Given the description of an element on the screen output the (x, y) to click on. 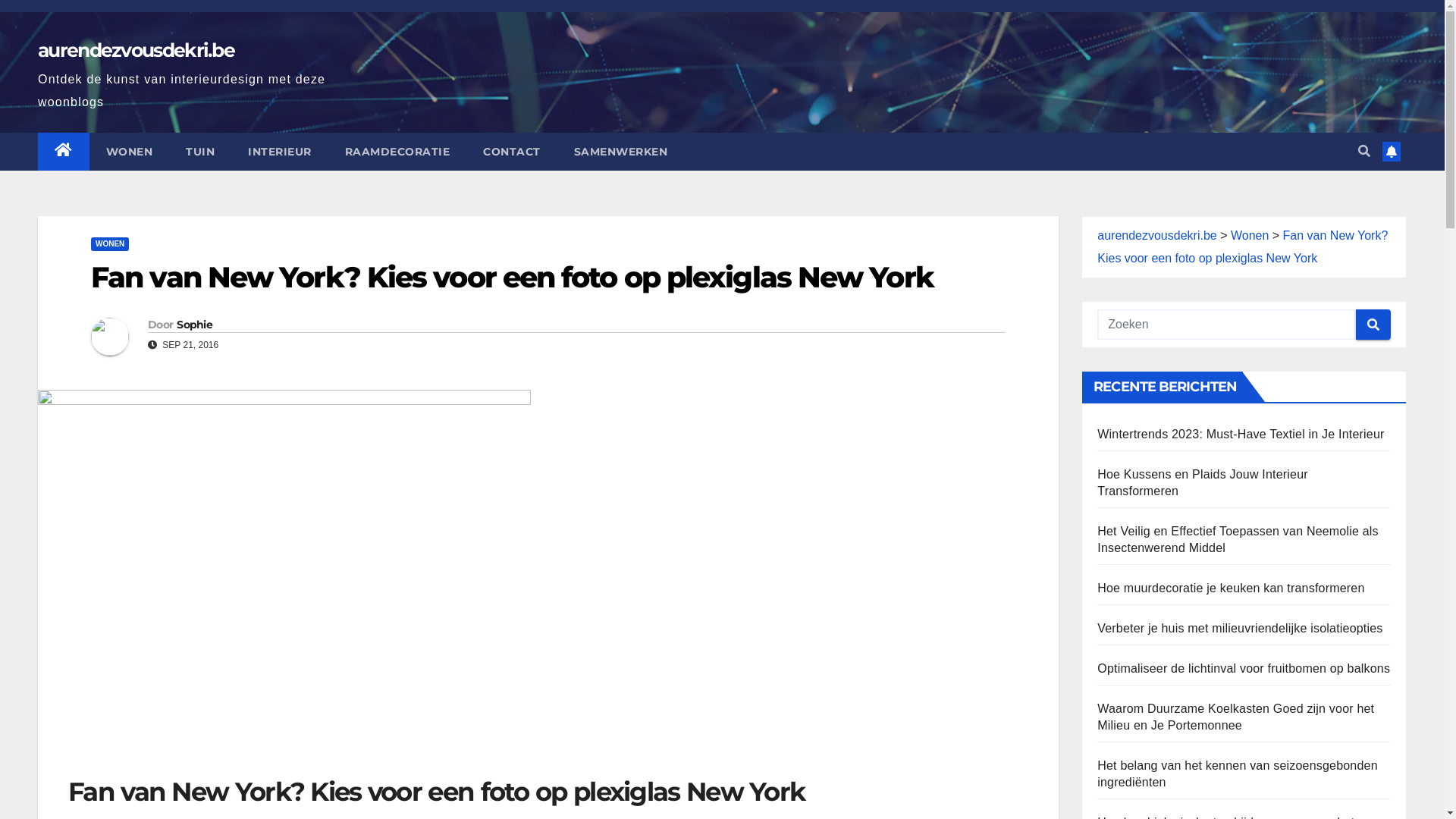
INTERIEUR Element type: text (279, 151)
Wintertrends 2023: Must-Have Textiel in Je Interieur Element type: text (1240, 433)
aurendezvousdekri.be Element type: text (135, 49)
Fan van New York? Kies voor een foto op plexiglas New York Element type: text (512, 276)
Fan van New York? Kies voor een foto op plexiglas New York Element type: text (1242, 246)
WONEN Element type: text (129, 151)
Hoe Kussens en Plaids Jouw Interieur Transformeren Element type: text (1202, 482)
Hoe muurdecoratie je keuken kan transformeren Element type: text (1230, 587)
Sophie Element type: text (194, 324)
RAAMDECORATIE Element type: text (396, 151)
WONEN Element type: text (109, 244)
CONTACT Element type: text (511, 151)
SAMENWERKEN Element type: text (620, 151)
TUIN Element type: text (200, 151)
aurendezvousdekri.be Element type: text (1156, 235)
Wonen Element type: text (1249, 235)
Optimaliseer de lichtinval voor fruitbomen op balkons Element type: text (1243, 668)
Verbeter je huis met milieuvriendelijke isolatieopties Element type: text (1239, 627)
